Given the description of an element on the screen output the (x, y) to click on. 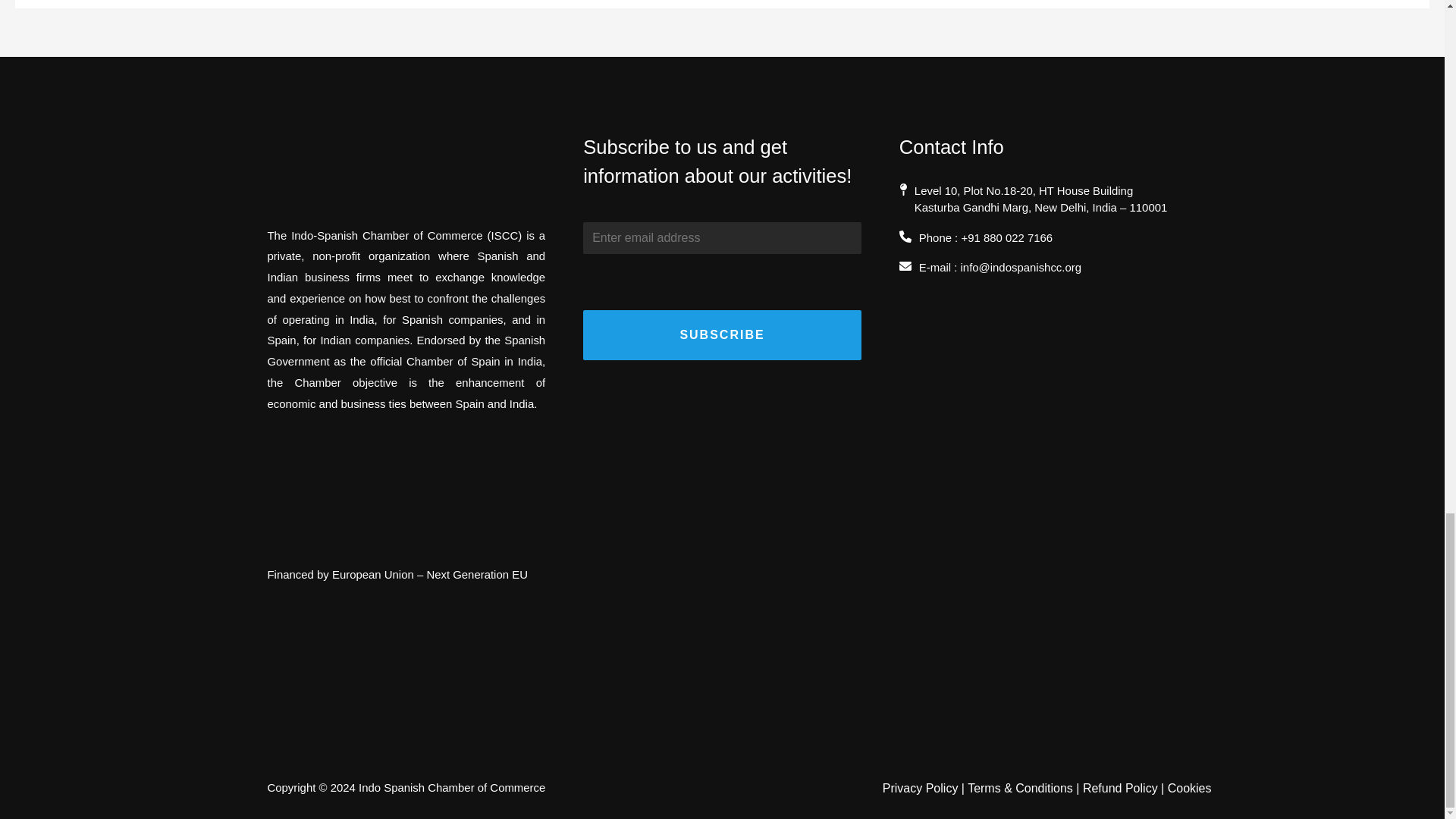
Subscribe (722, 335)
